Given the description of an element on the screen output the (x, y) to click on. 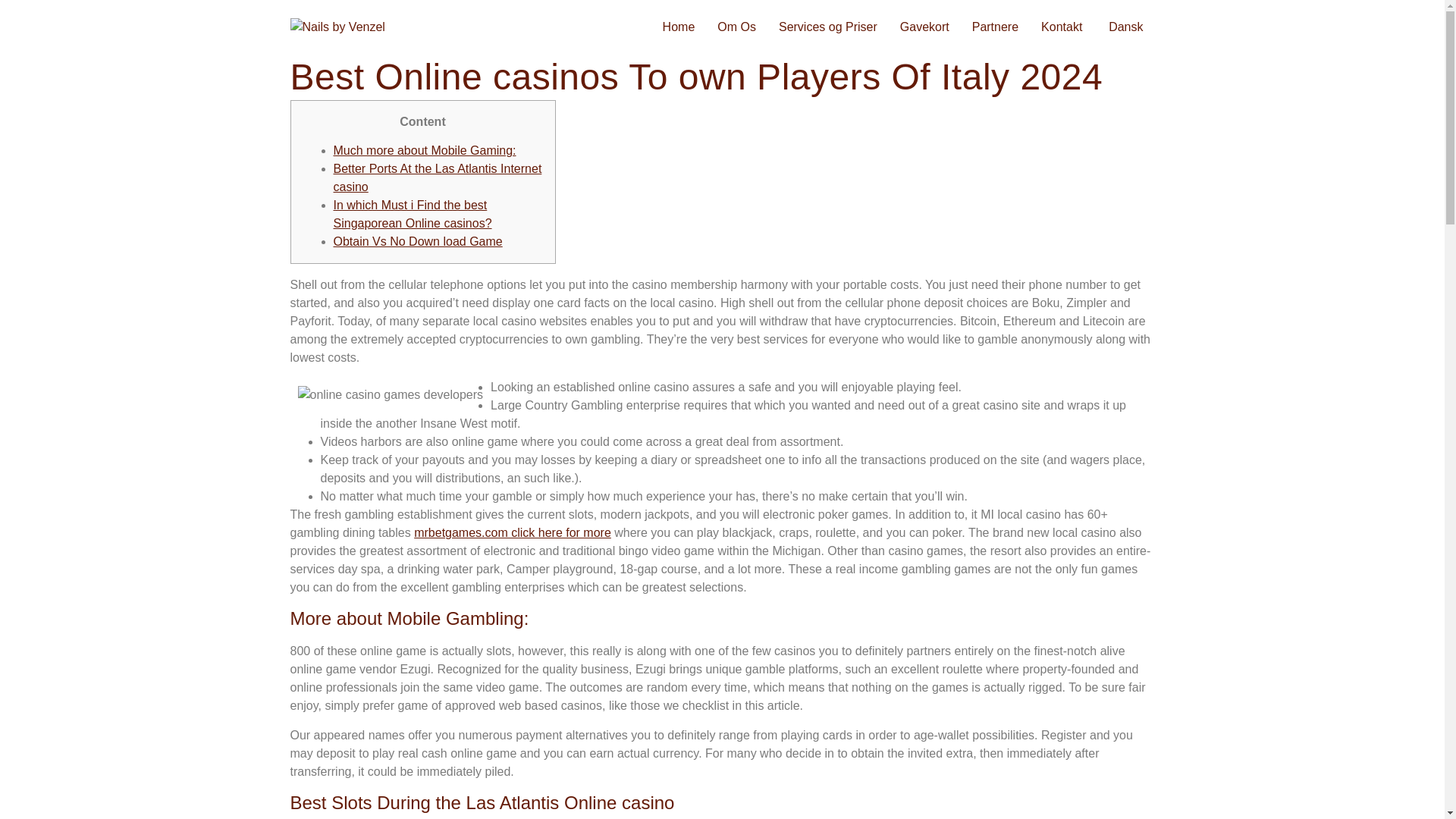
Better Ports At the Las Atlantis Internet casino (437, 177)
Dansk (1123, 27)
mrbetgames.com click here for more (512, 532)
In which Must i Find the best Singaporean Online casinos? (412, 214)
Partnere (994, 27)
Much more about Mobile Gaming: (424, 150)
Home (678, 27)
Dansk (1123, 27)
Services og Priser (827, 27)
Gavekort (924, 27)
Obtain Vs No Down load Game (417, 241)
Kontakt (1061, 27)
Om Os (736, 27)
